Given the description of an element on the screen output the (x, y) to click on. 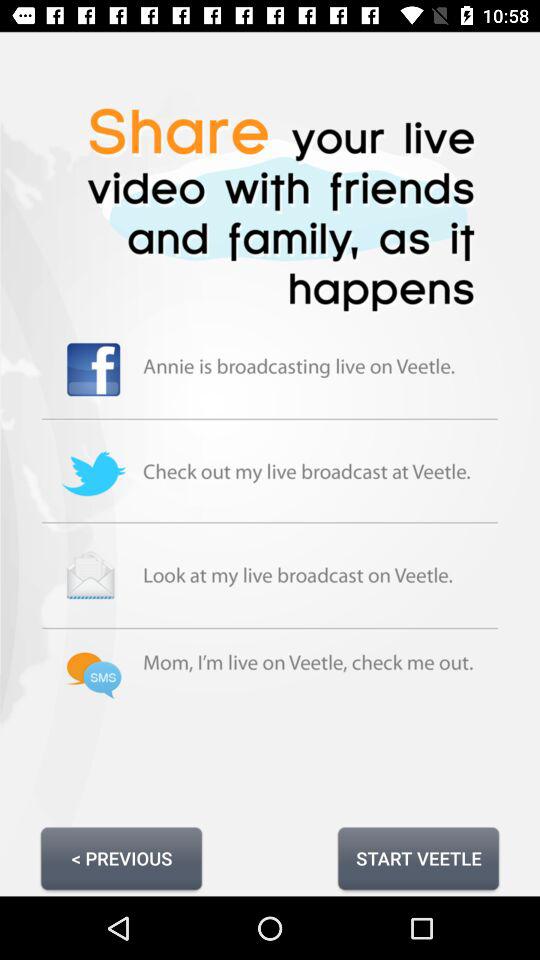
press the item next to the start veetle item (121, 858)
